Given the description of an element on the screen output the (x, y) to click on. 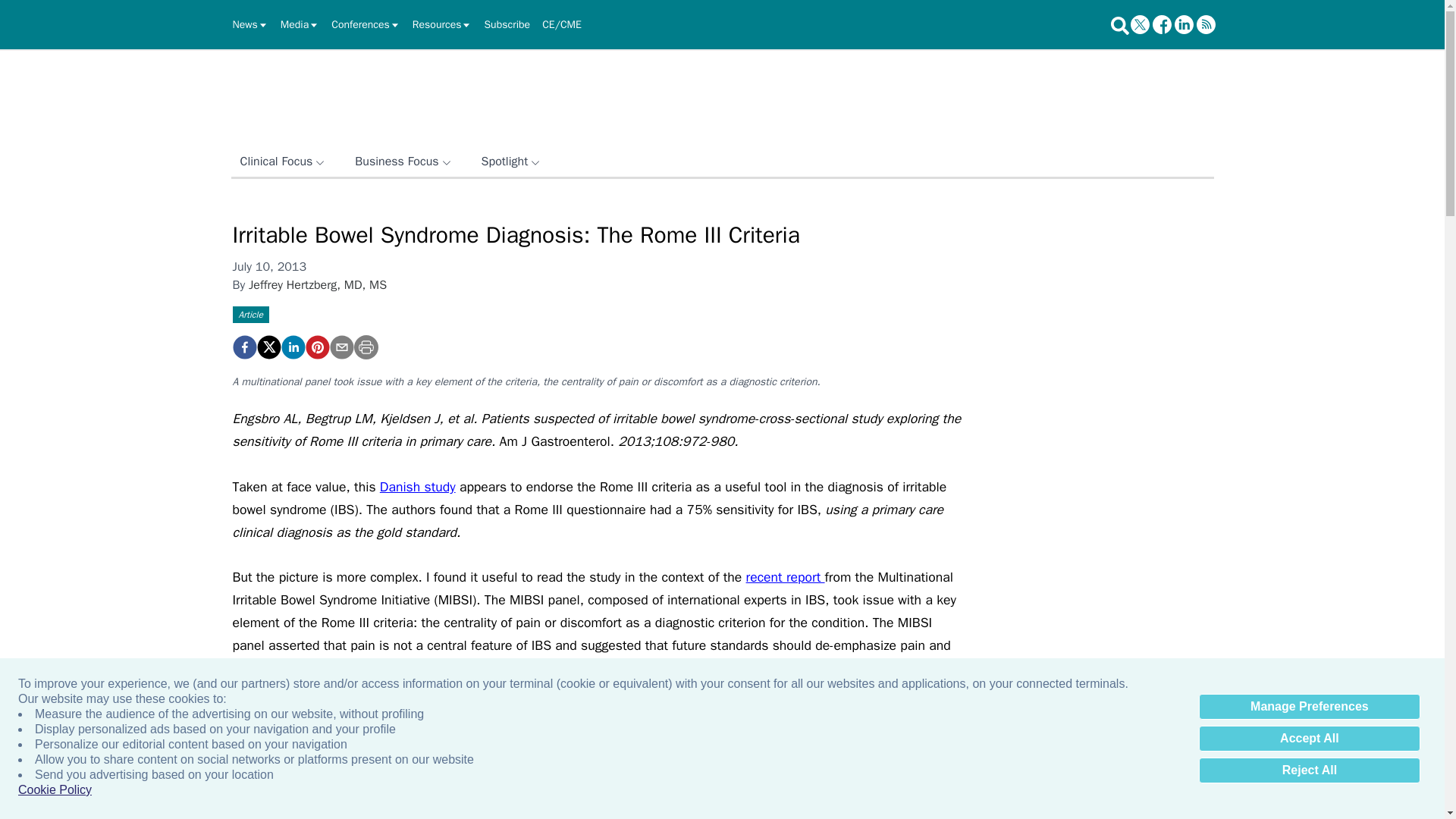
Accept All (1309, 738)
Cookie Policy (54, 789)
Irritable Bowel Syndrome Diagnosis: The Rome III Criteria (316, 346)
Irritable Bowel Syndrome Diagnosis: The Rome III Criteria (243, 346)
Subscribe (506, 23)
Manage Preferences (1309, 706)
Reject All (1309, 769)
